Given the description of an element on the screen output the (x, y) to click on. 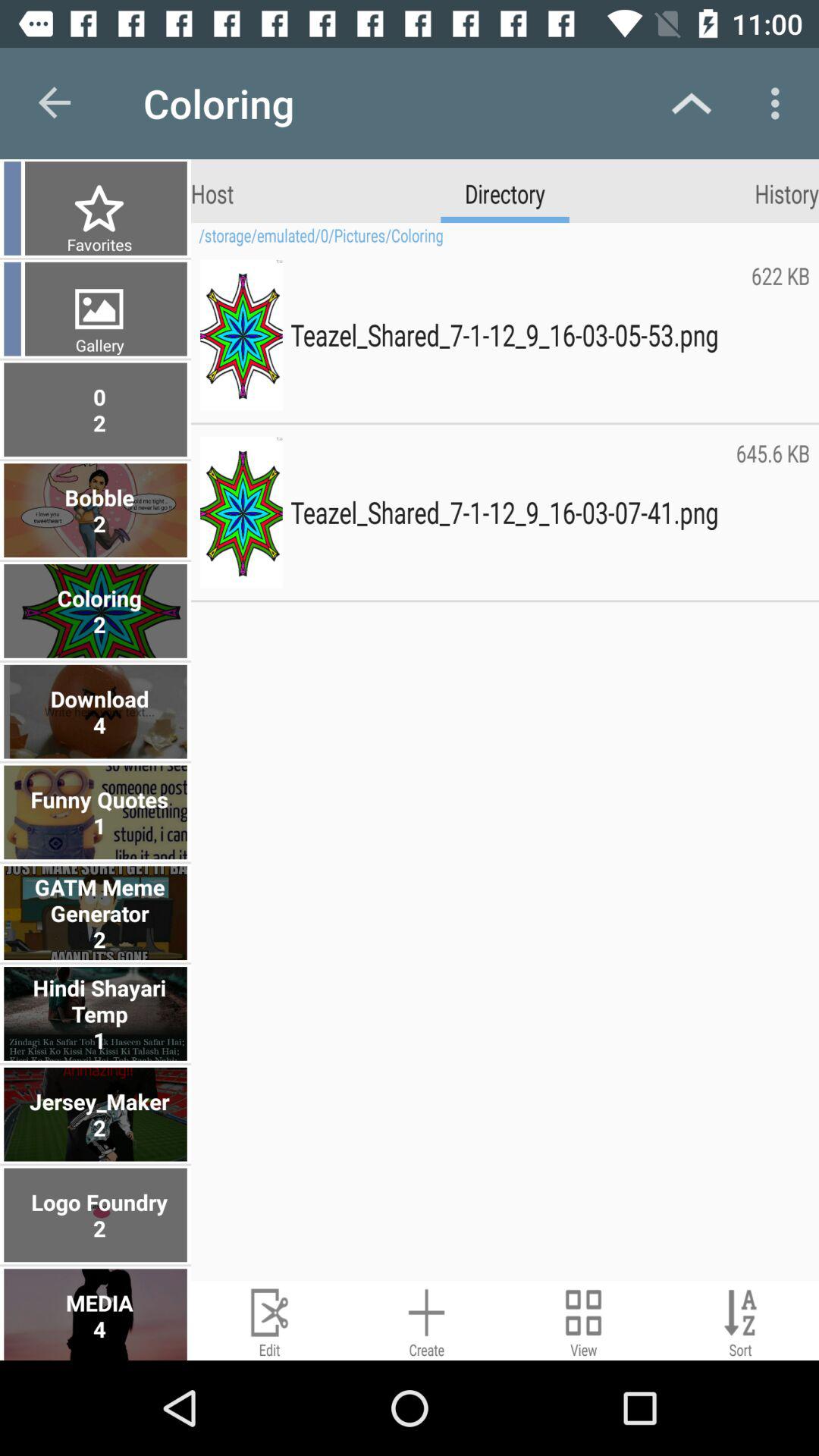
sort by (740, 1320)
